Given the description of an element on the screen output the (x, y) to click on. 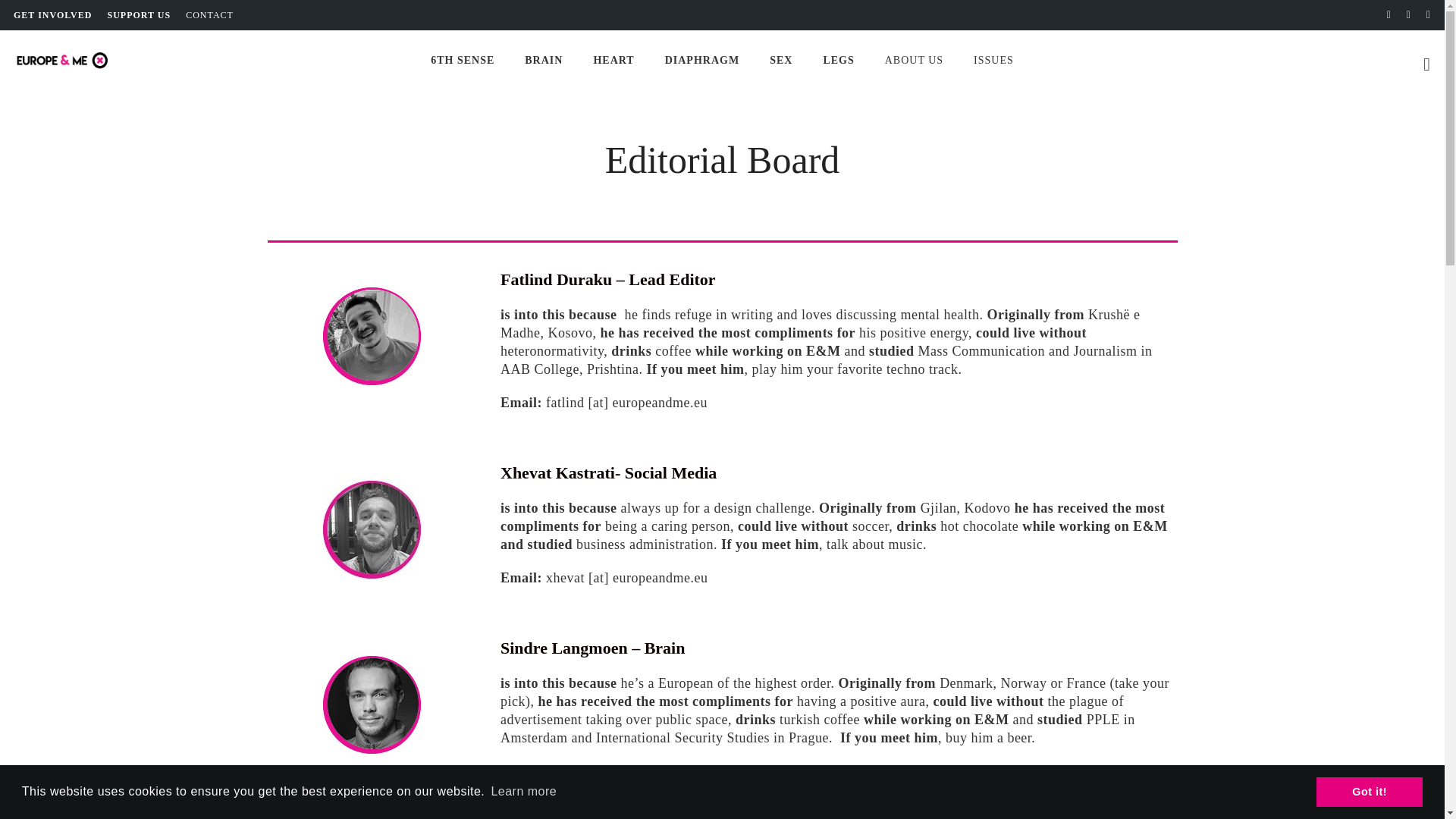
SUPPORT US (138, 15)
GET INVOLVED (52, 15)
Got it! (1369, 791)
CONTACT (209, 15)
Learn more (523, 791)
